Given the description of an element on the screen output the (x, y) to click on. 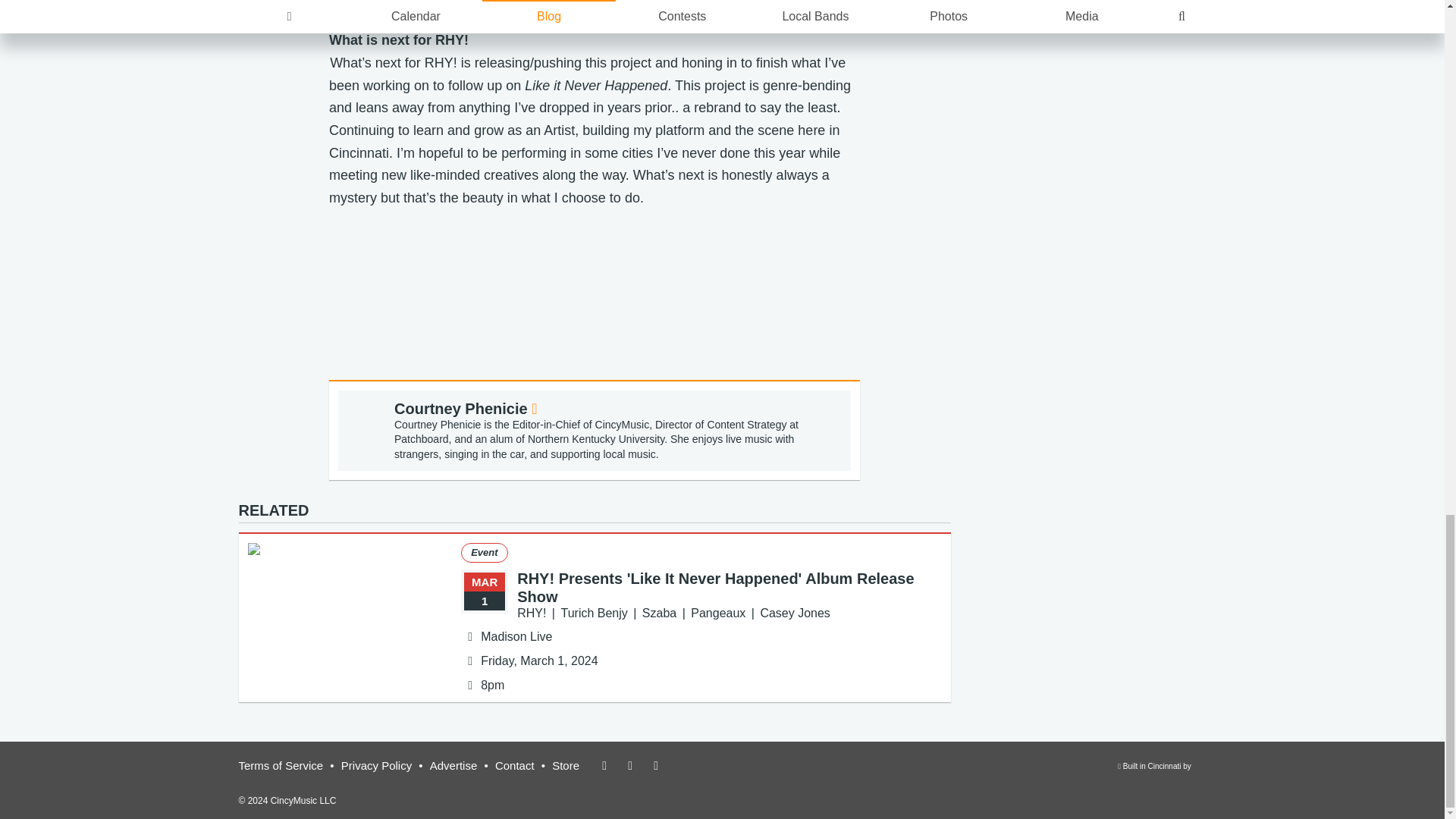
Terms of Service (280, 765)
Courtney Phenicie  (465, 408)
